Given the description of an element on the screen output the (x, y) to click on. 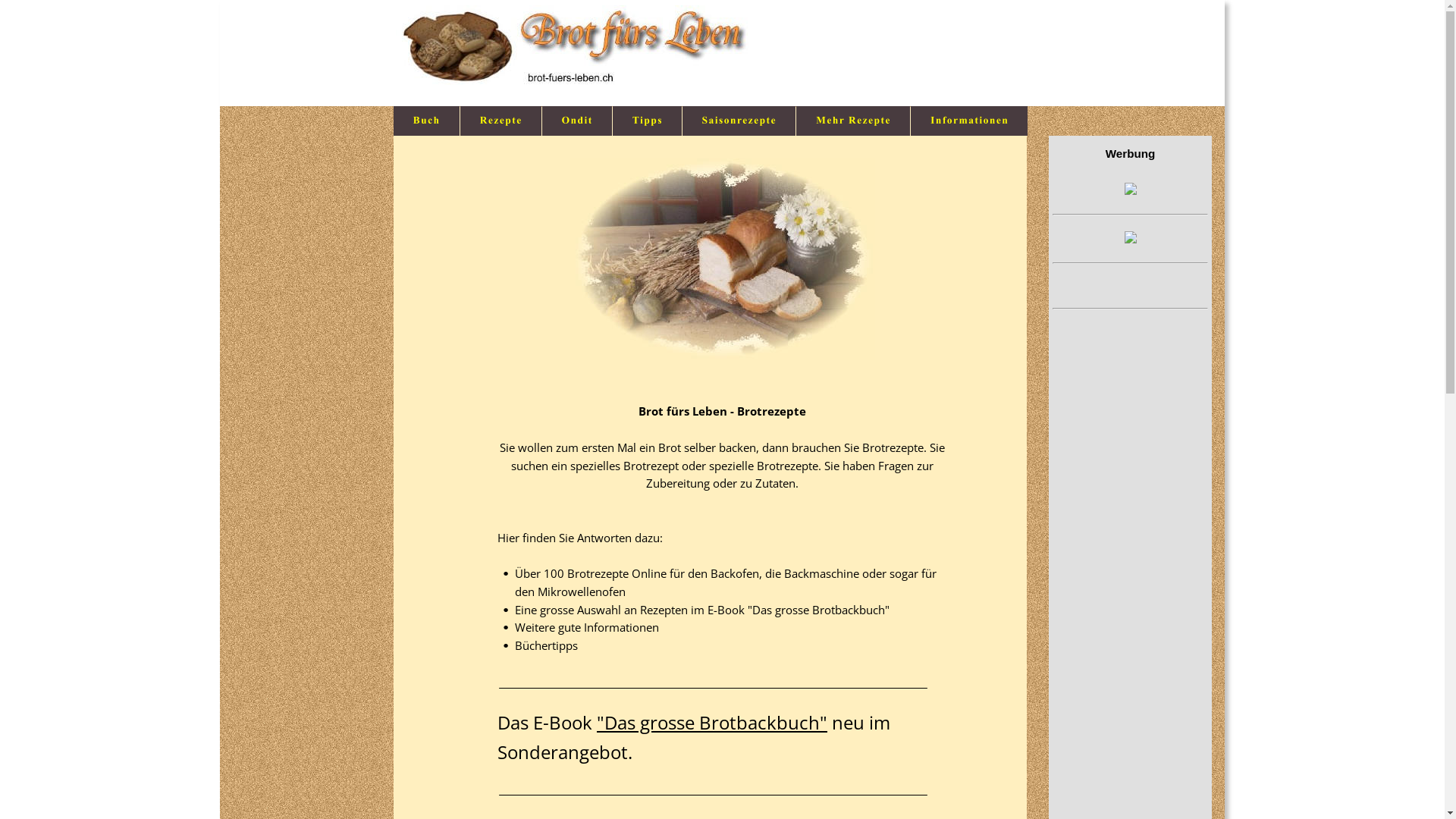
"Das grosse Brotbackbuch" Element type: text (711, 721)
